Given the description of an element on the screen output the (x, y) to click on. 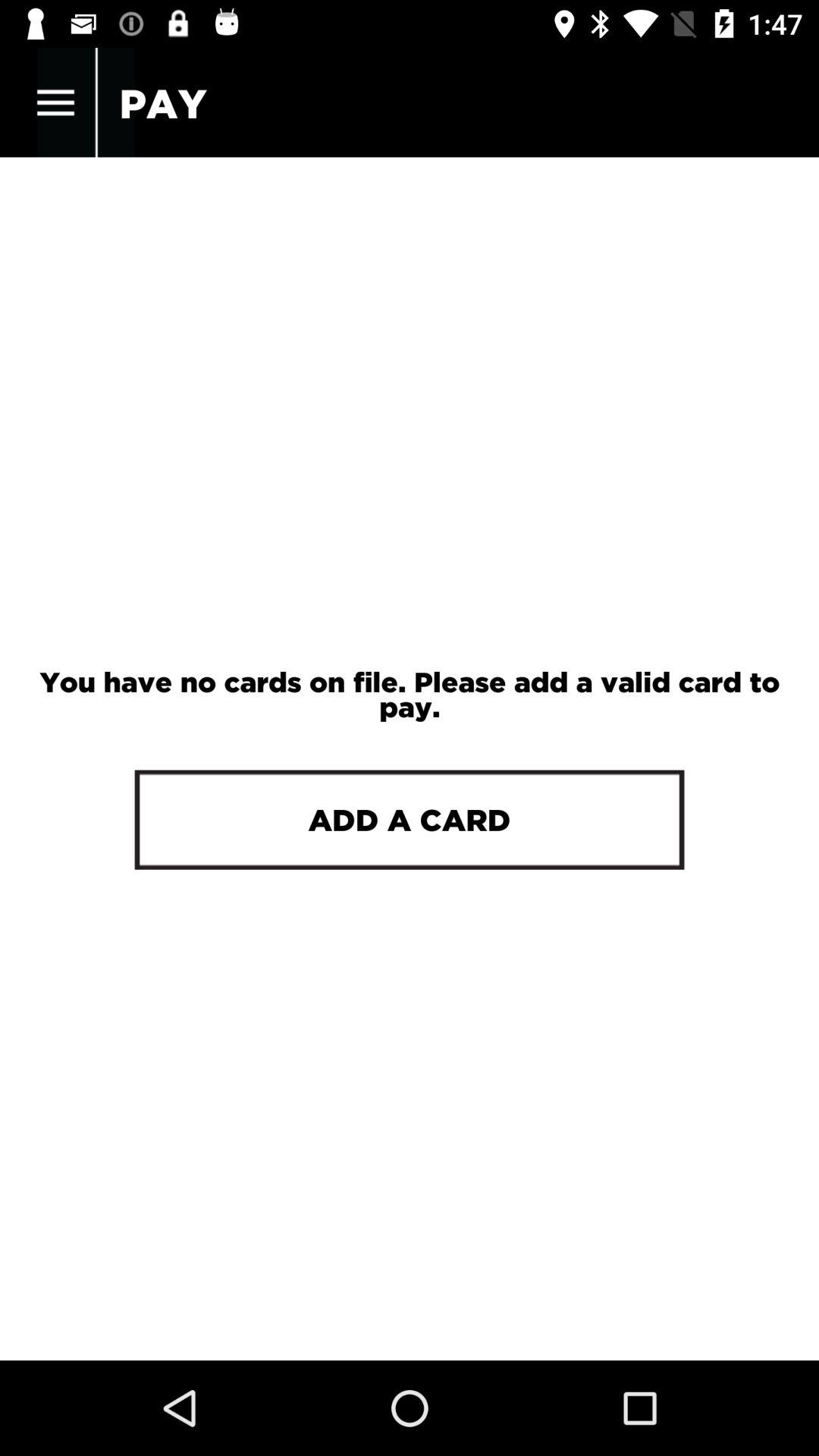
press the item next to the pay (55, 103)
